Given the description of an element on the screen output the (x, y) to click on. 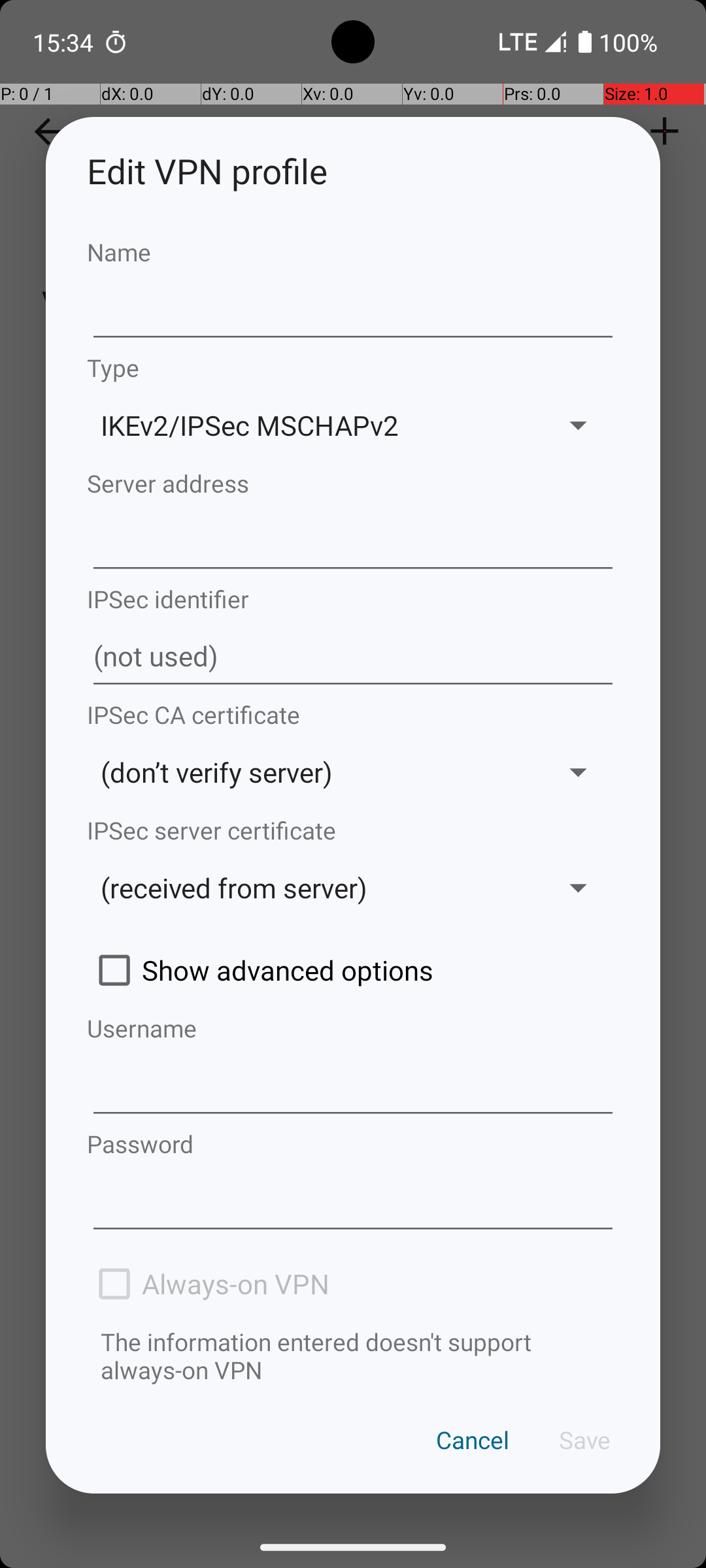
Edit VPN profile Element type: android.widget.TextView (352, 170)
Server address Element type: android.widget.TextView (352, 482)
IPSec identifier Element type: android.widget.TextView (352, 598)
(not used) Element type: android.widget.EditText (352, 656)
IPSec CA certificate Element type: android.widget.TextView (352, 714)
IPSec server certificate Element type: android.widget.TextView (352, 829)
Show advanced options Element type: android.widget.CheckBox (352, 970)
Username Element type: android.widget.TextView (352, 1027)
Password Element type: android.widget.TextView (352, 1143)
Always-on VPN Element type: android.widget.CheckBox (352, 1283)
The information entered doesn't support always-on VPN Element type: android.widget.TextView (352, 1355)
IKEv2/IPSec MSCHAPv2 Element type: android.widget.TextView (311, 424)
(don’t verify server) Element type: android.widget.TextView (311, 771)
(received from server) Element type: android.widget.TextView (311, 887)
